Given the description of an element on the screen output the (x, y) to click on. 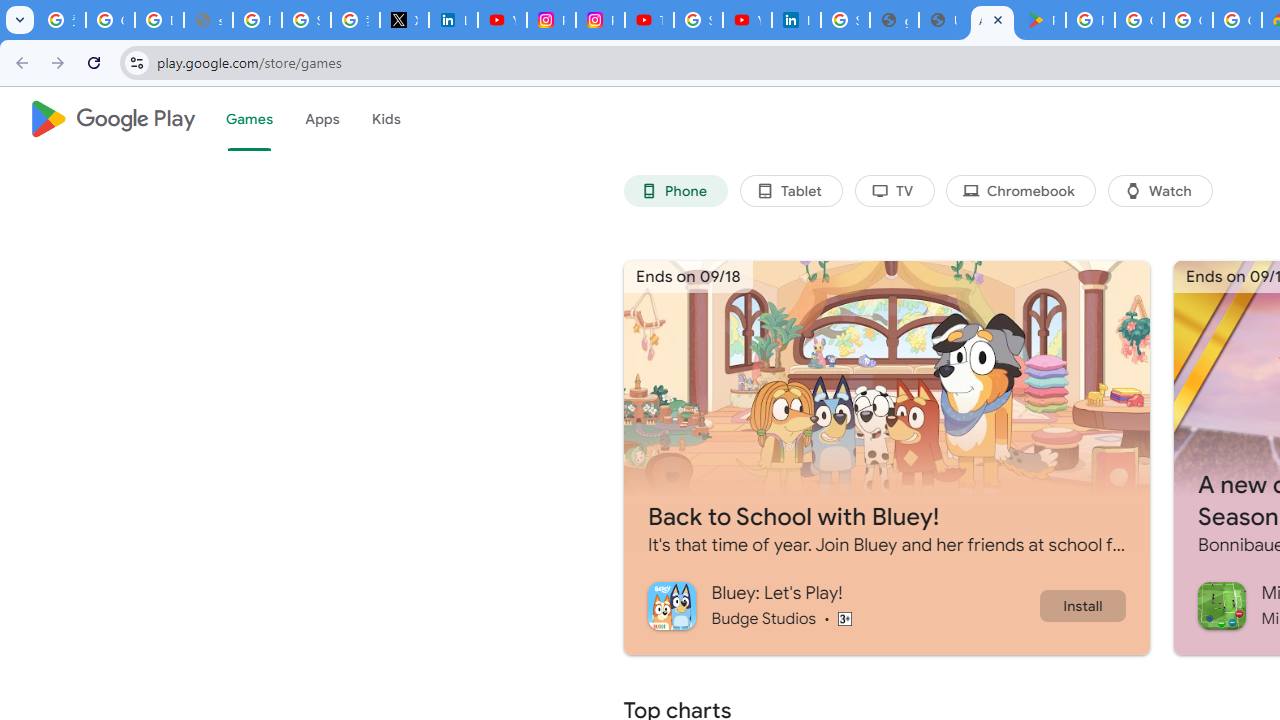
Kids (385, 119)
Chromebook (1020, 190)
Sign in - Google Accounts (845, 20)
Content rating Rated for 3+ (844, 618)
X (404, 20)
User Details (943, 20)
Bluey: Let's Play! Budge Studios Content rating Rated for 3+ (842, 605)
Install (1082, 605)
Google Play logo (111, 119)
